Given the description of an element on the screen output the (x, y) to click on. 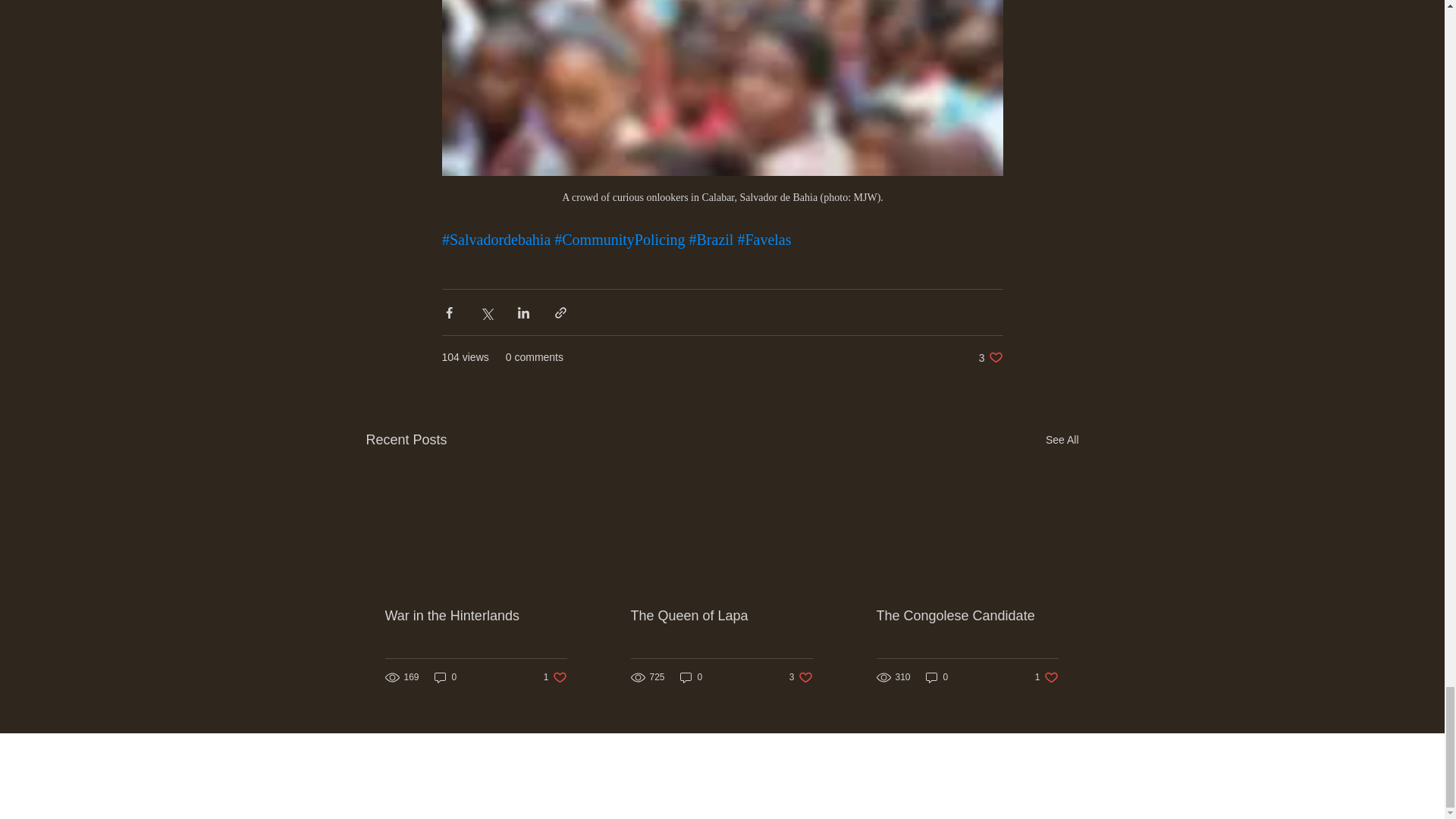
The Queen of Lapa (990, 357)
See All (721, 616)
0 (1046, 677)
War in the Hinterlands (1061, 440)
0 (445, 677)
0 (476, 616)
The Congolese Candidate (937, 677)
